Given the description of an element on the screen output the (x, y) to click on. 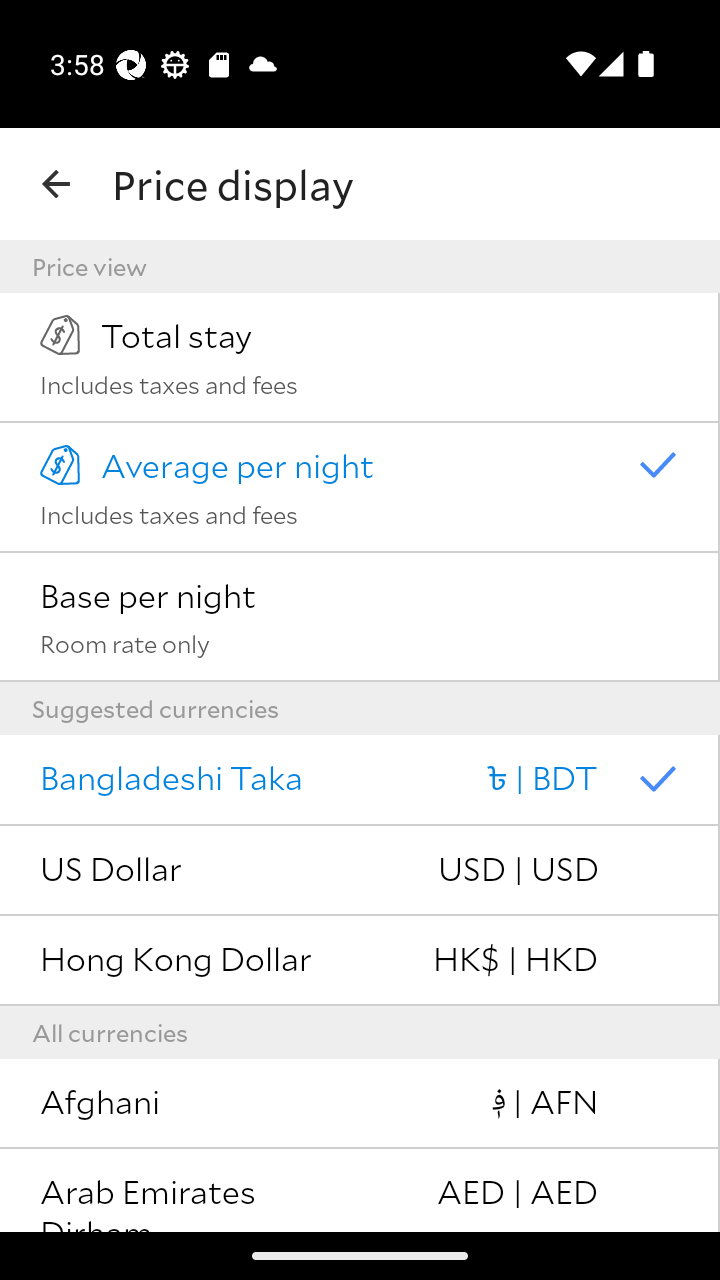
navigation_button (56, 184)
Average per night Includes taxes and fees (360, 487)
Base per night Room rate only (360, 617)
Bangladeshi Taka ৳ | BDT (360, 779)
US Dollar USD | USD (360, 870)
Hong Kong Dollar HK$ | HKD (360, 961)
Afghani ‎؋ | AFN (360, 1103)
Arab Emirates Dirham AED | AED (360, 1190)
